Given the description of an element on the screen output the (x, y) to click on. 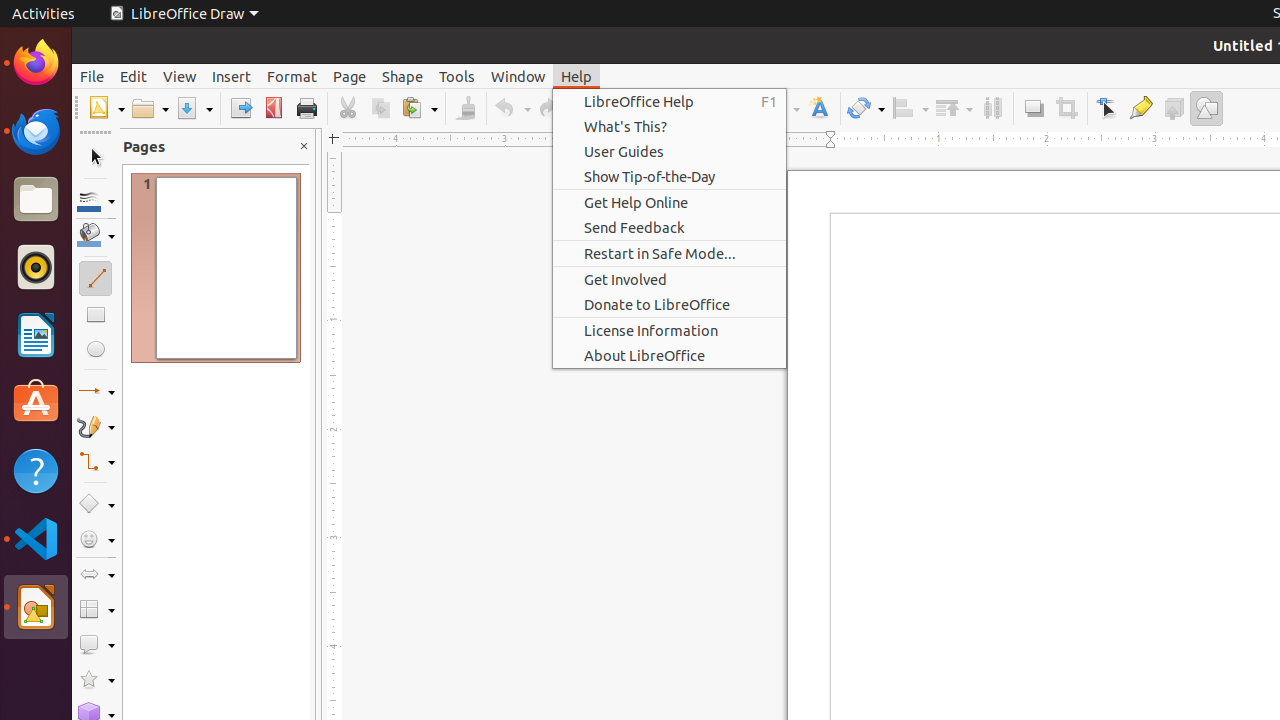
Select Element type: push-button (95, 157)
Edit Points Element type: push-button (1107, 108)
Crop Element type: push-button (1066, 108)
Shape Element type: menu (402, 76)
Line Color Element type: push-button (96, 200)
